Given the description of an element on the screen output the (x, y) to click on. 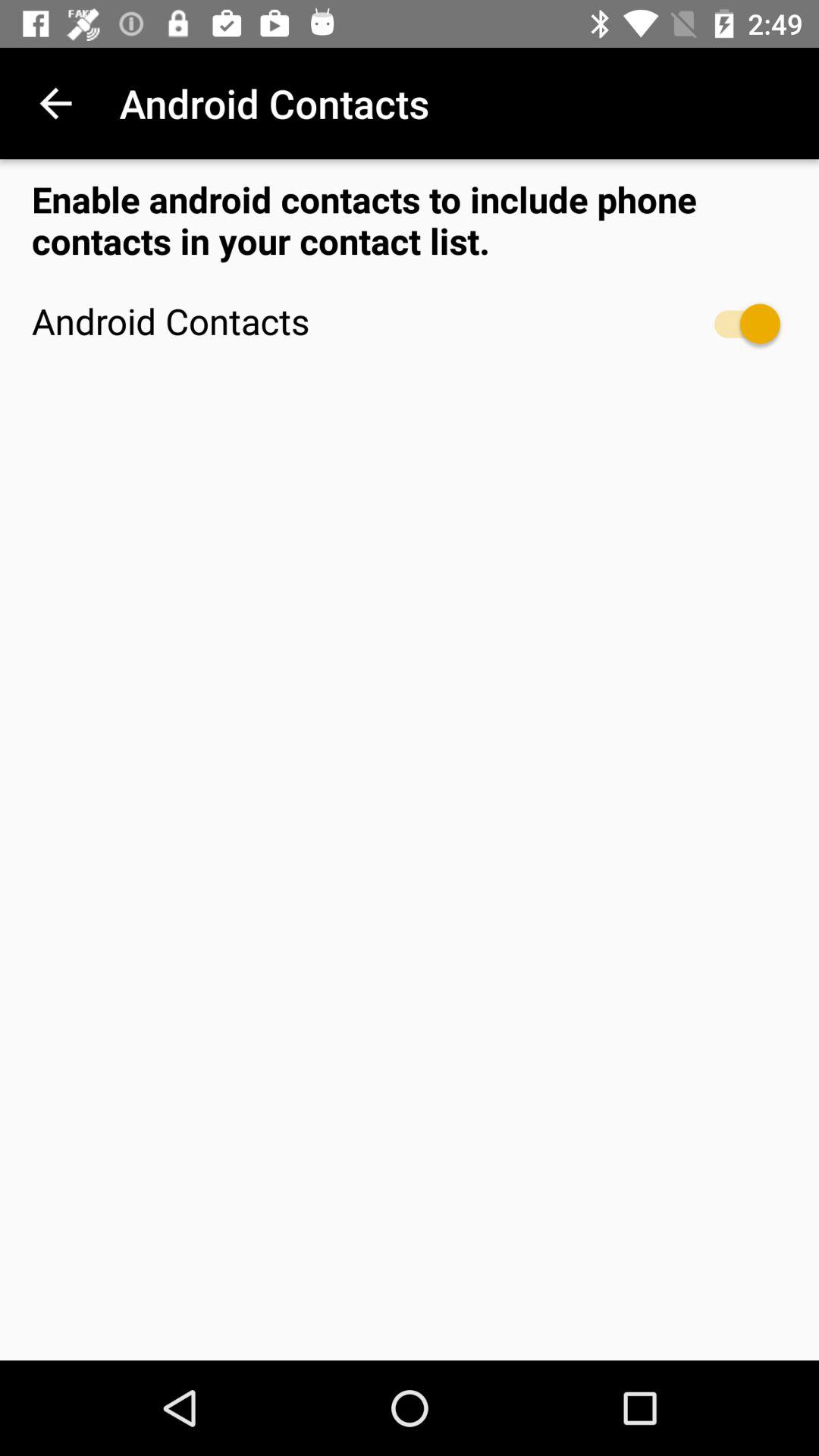
press the item next to android contacts icon (55, 103)
